Given the description of an element on the screen output the (x, y) to click on. 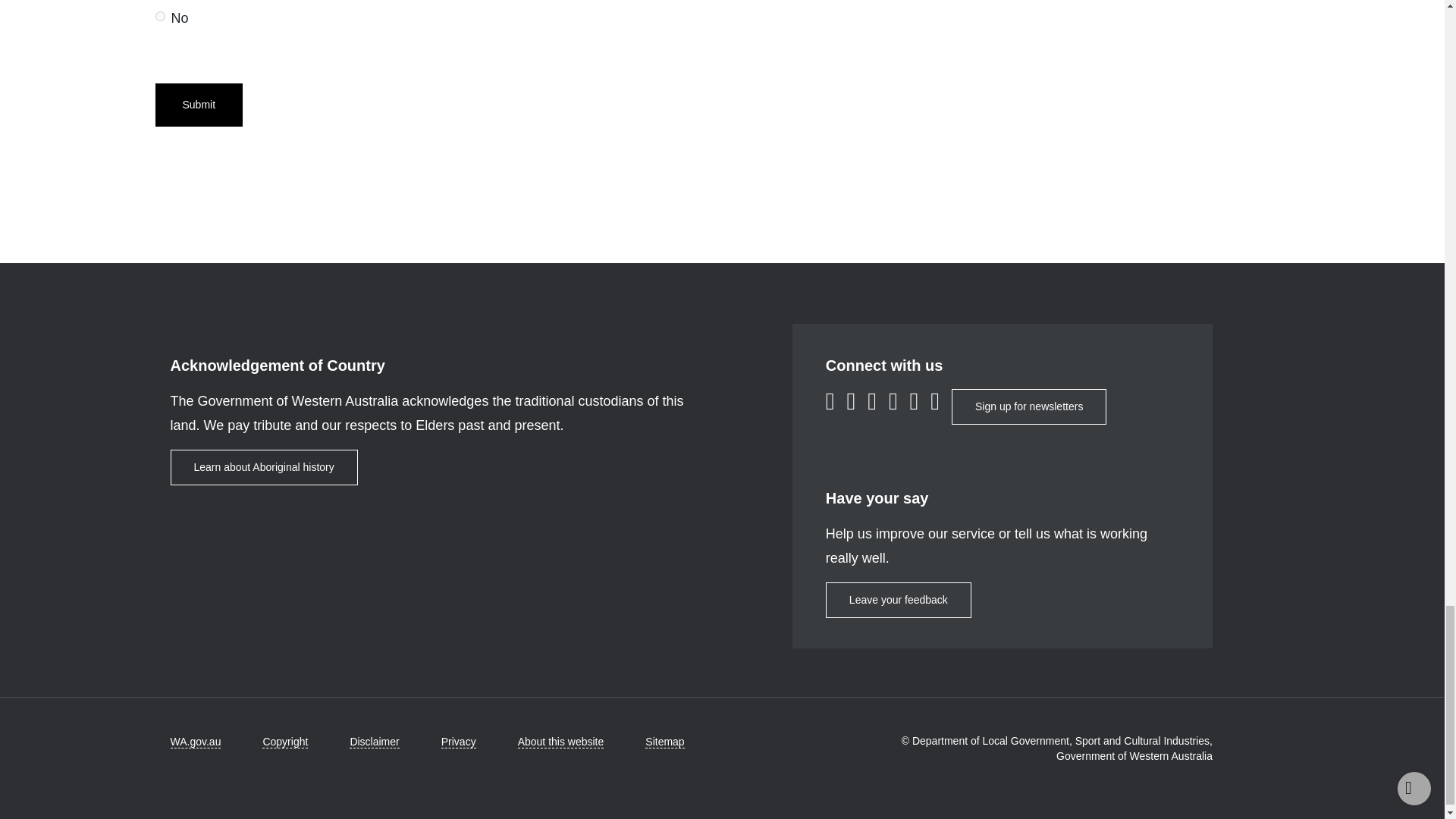
No (159, 16)
